Given the description of an element on the screen output the (x, y) to click on. 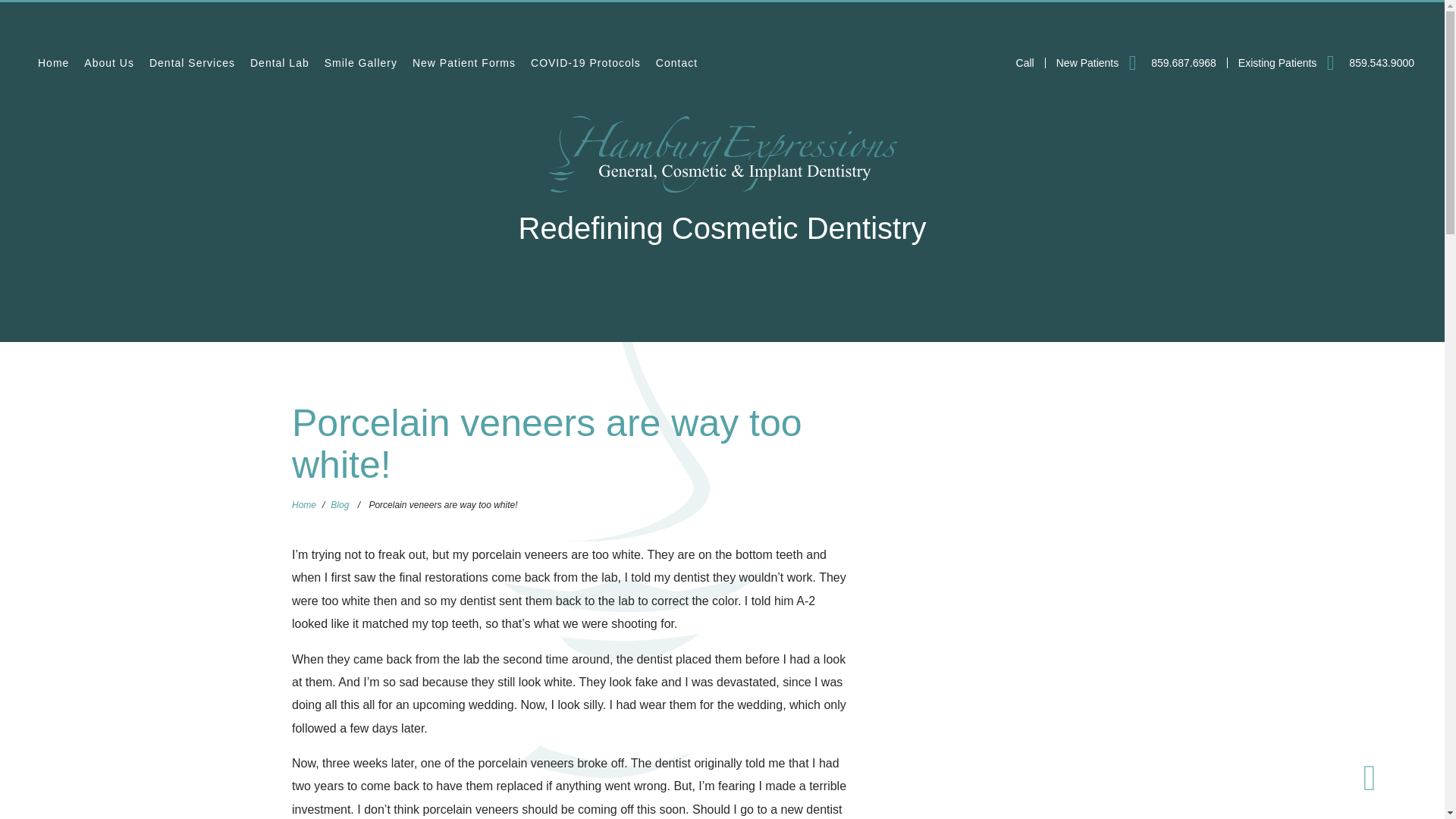
About Us (109, 62)
Home (53, 62)
Dental Services (192, 62)
